Given the description of an element on the screen output the (x, y) to click on. 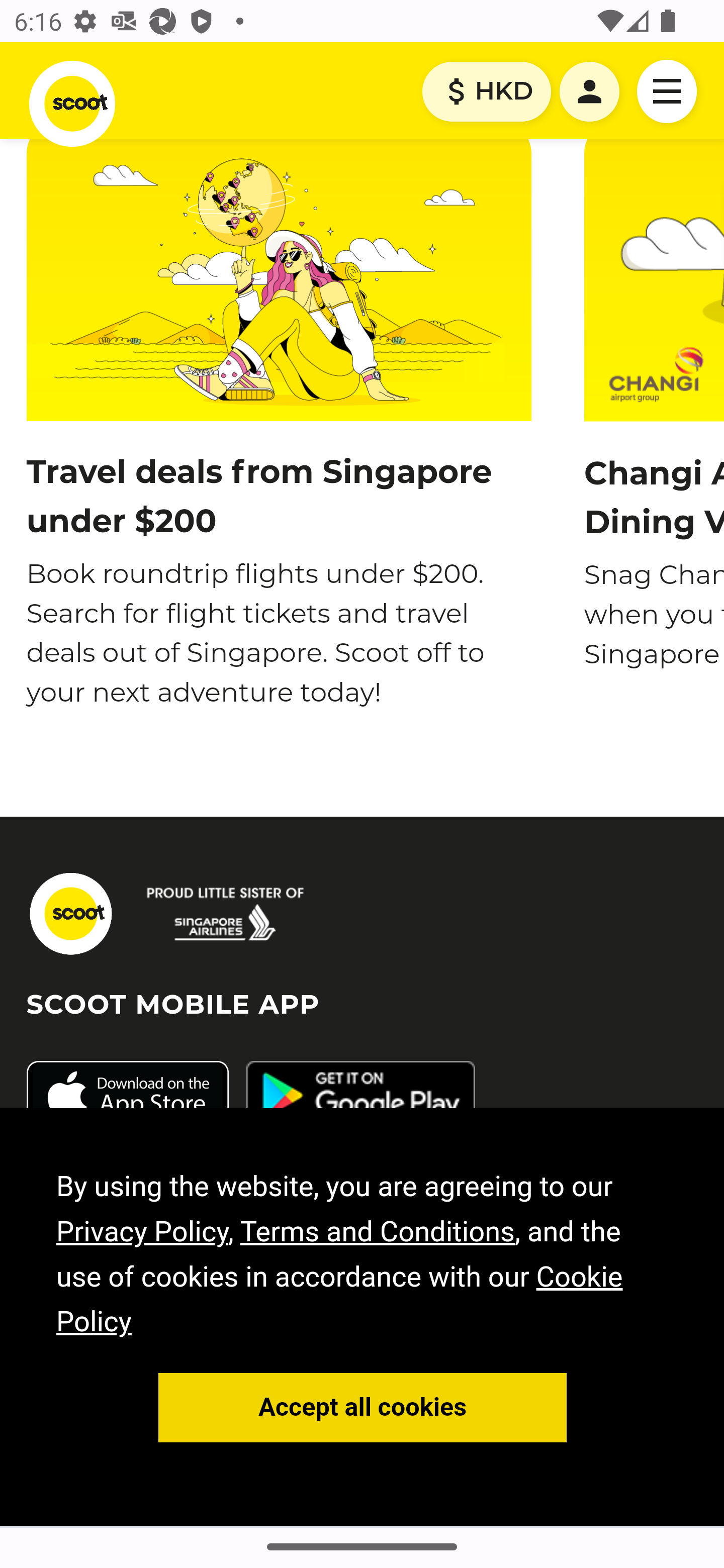
Scoot (71, 103)
Toggle Menu (667, 91)
attach_moneyHKD (486, 92)
person (590, 92)
person (590, 92)
Travel deals from Singapore under $200 (258, 497)
Back to Classic flyscoot.com (69, 913)
search (225, 913)
id898287610?pt=92295801&ct=flyscoot&mt=8 (126, 1098)
googleplay (360, 1098)
Privacy Policy (142, 1232)
Terms and Conditions (377, 1232)
Cookie Policy (340, 1301)
Accept all cookies (362, 1408)
